Given the description of an element on the screen output the (x, y) to click on. 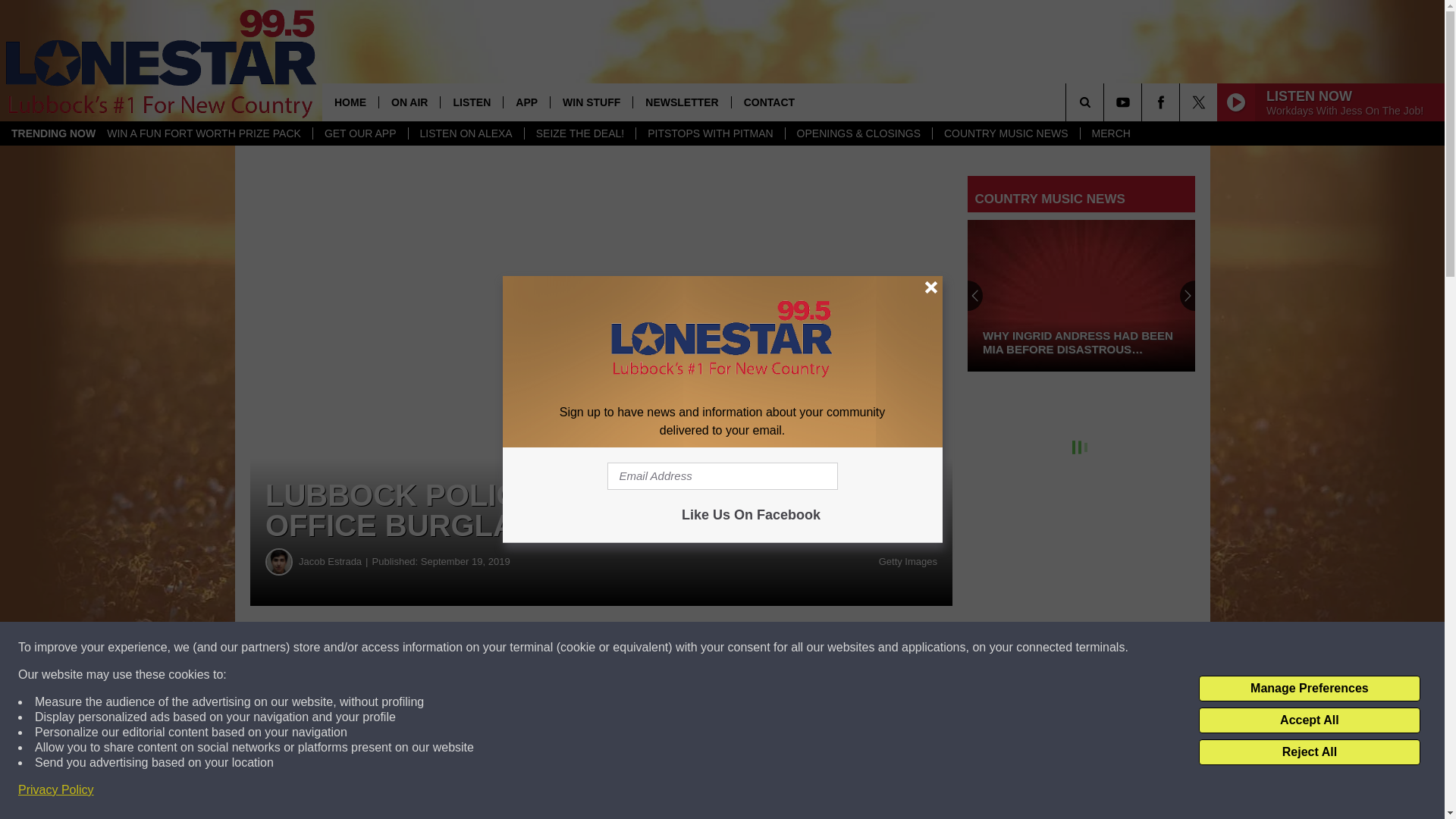
LISTEN (470, 102)
Share on Twitter (741, 647)
Share on Facebook (460, 647)
COUNTRY MUSIC NEWS (1005, 133)
PITSTOPS WITH PITMAN (709, 133)
APP (526, 102)
WIN STUFF (590, 102)
SEIZE THE DEAL! (579, 133)
Reject All (1309, 751)
Manage Preferences (1309, 688)
WIN A FUN FORT WORTH PRIZE PACK (204, 133)
MERCH (1110, 133)
HOME (349, 102)
SEARCH (1106, 102)
GET OUR APP (360, 133)
